Given the description of an element on the screen output the (x, y) to click on. 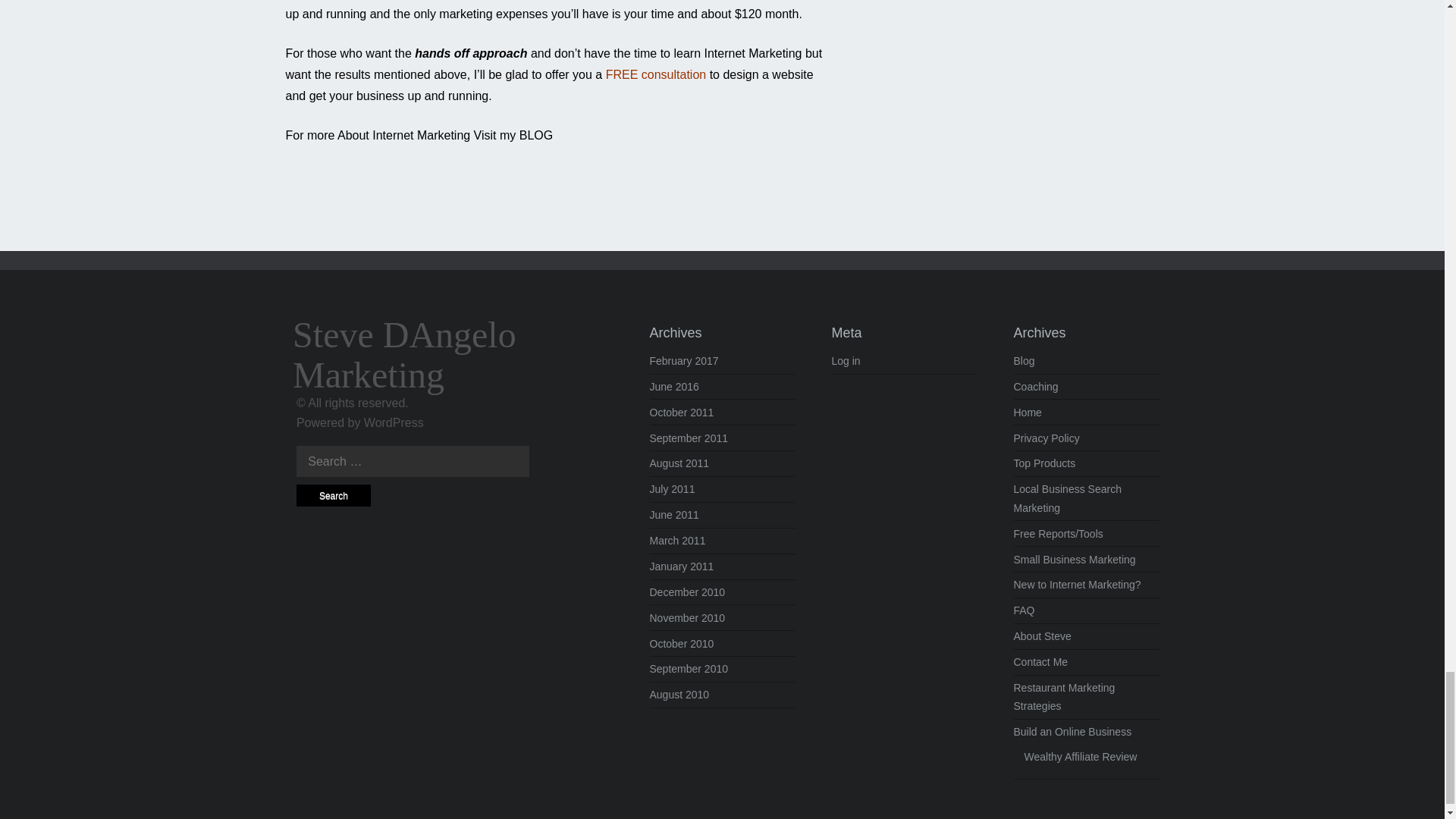
Search (334, 495)
FREE consultation (657, 74)
Search for: (413, 460)
Search (334, 495)
BLOG (534, 134)
A Semantic Personal Publishing Platform (393, 422)
